Given the description of an element on the screen output the (x, y) to click on. 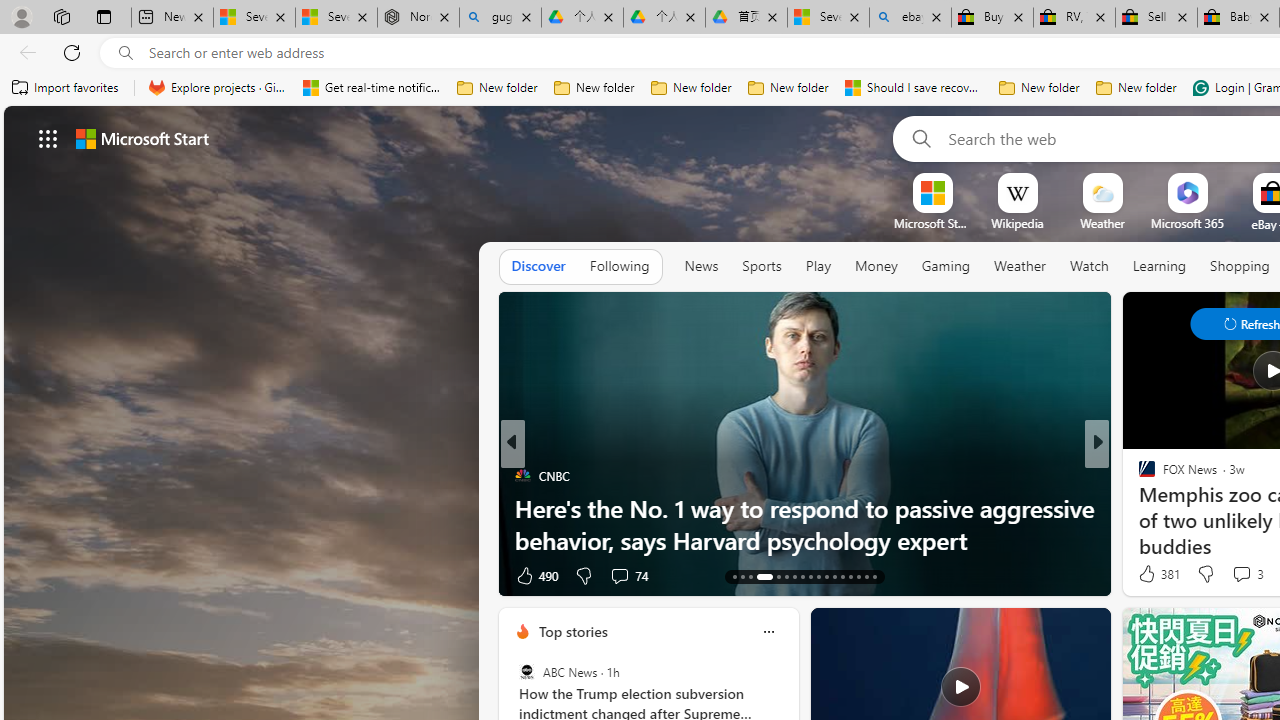
3 Like (1145, 574)
Watch (1089, 267)
Weather (1019, 267)
AutomationID: tab-27 (857, 576)
AutomationID: tab-20 (801, 576)
AutomationID: tab-19 (793, 576)
New folder (1136, 88)
View comments 2 Comment (1229, 575)
ABC News (526, 672)
Learning (1159, 265)
AutomationID: tab-16 (757, 576)
Top stories (572, 631)
